Given the description of an element on the screen output the (x, y) to click on. 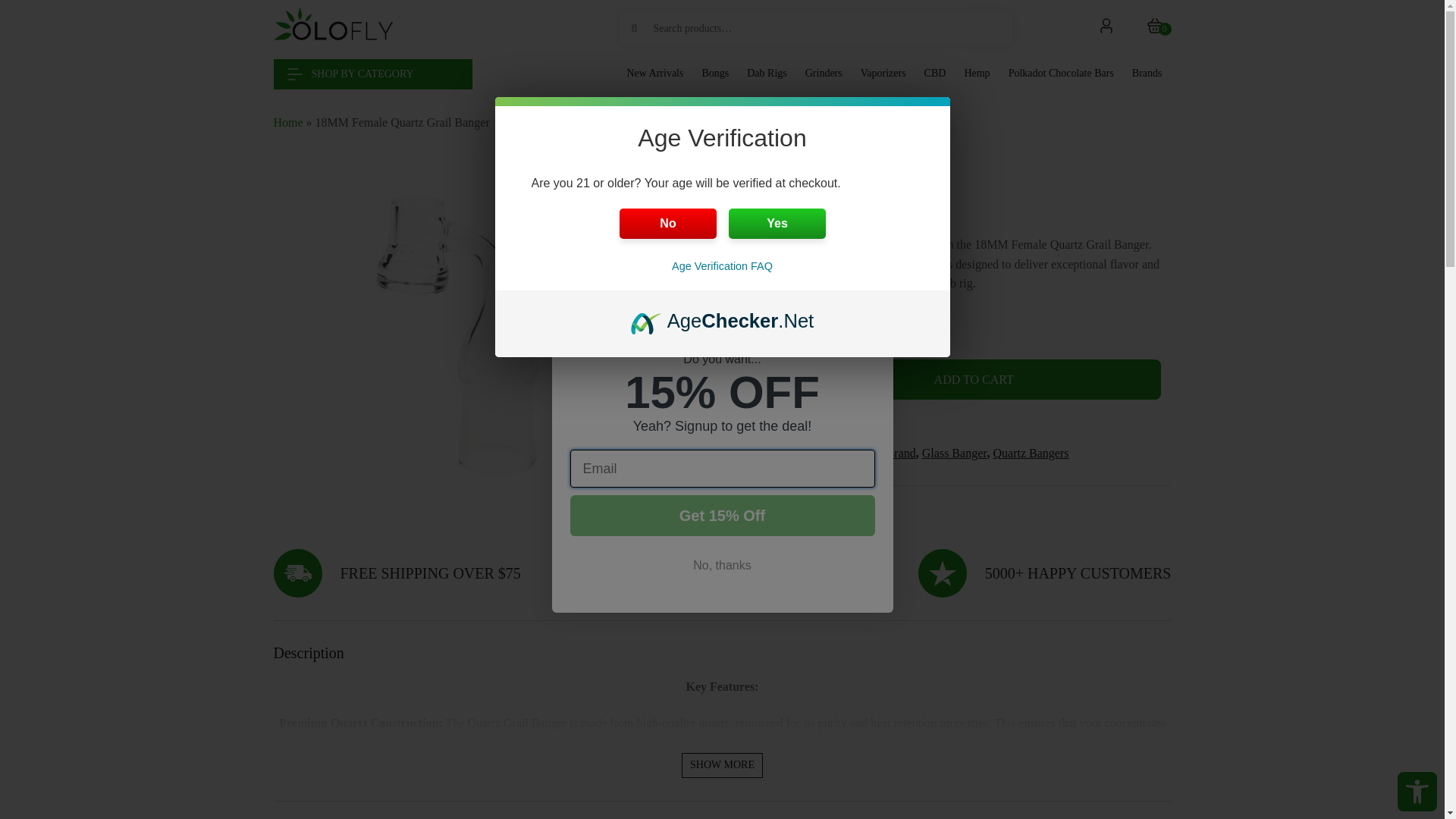
18MM Female Quartz Grail Banger (457, 335)
My Account (1105, 28)
Brands (1146, 74)
CBD (935, 74)
New Arrivals (654, 74)
Polkadot Chocolate Bars (1061, 74)
Open toolbar (1417, 791)
View your shopping cart (1153, 28)
Dab Rigs (766, 74)
Accessibility Tools (1417, 791)
Bongs (715, 74)
0 (1153, 28)
Grinders (824, 74)
Qty (735, 380)
